Given the description of an element on the screen output the (x, y) to click on. 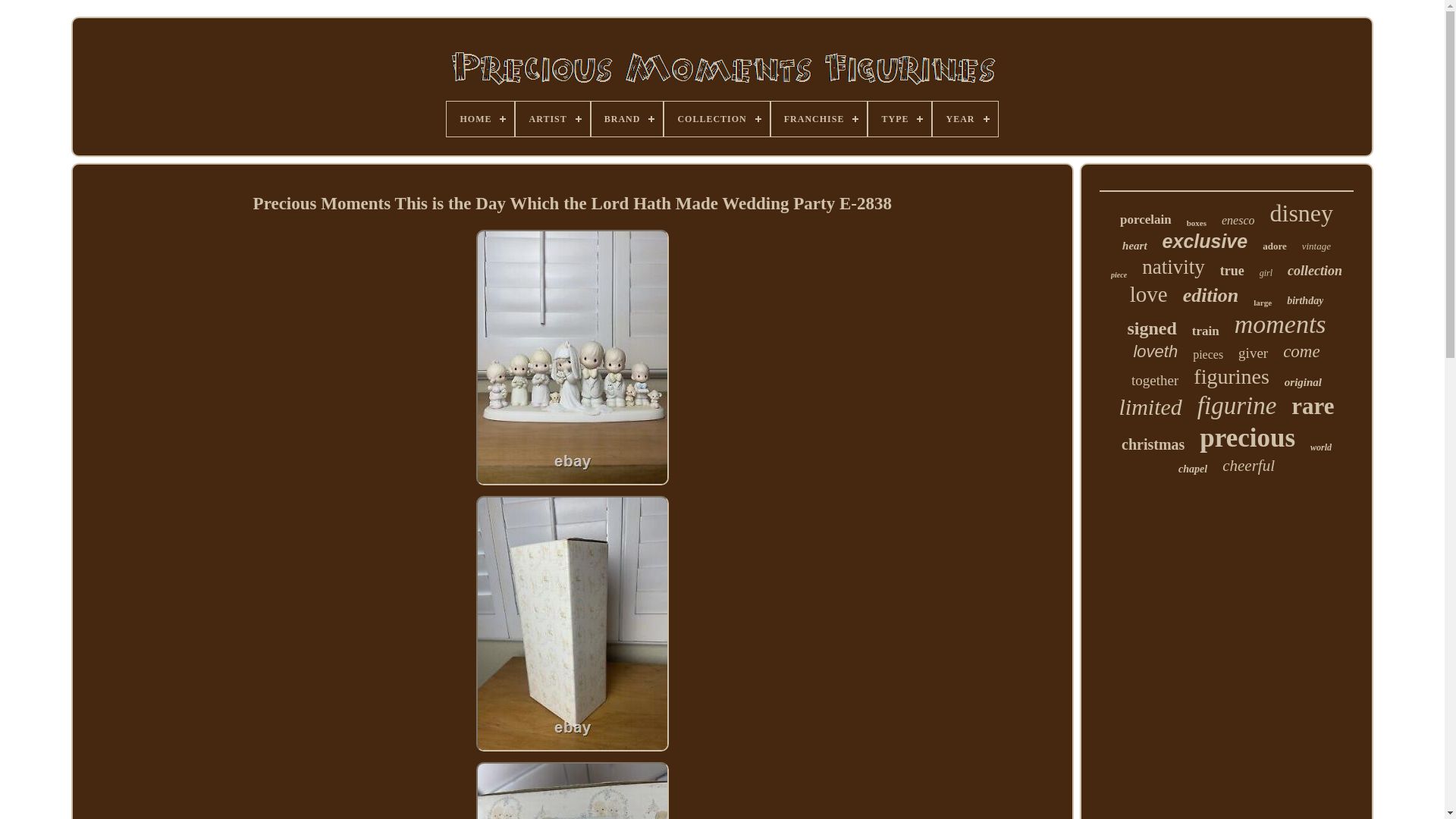
BRAND (627, 118)
HOME (479, 118)
ARTIST (552, 118)
